Given the description of an element on the screen output the (x, y) to click on. 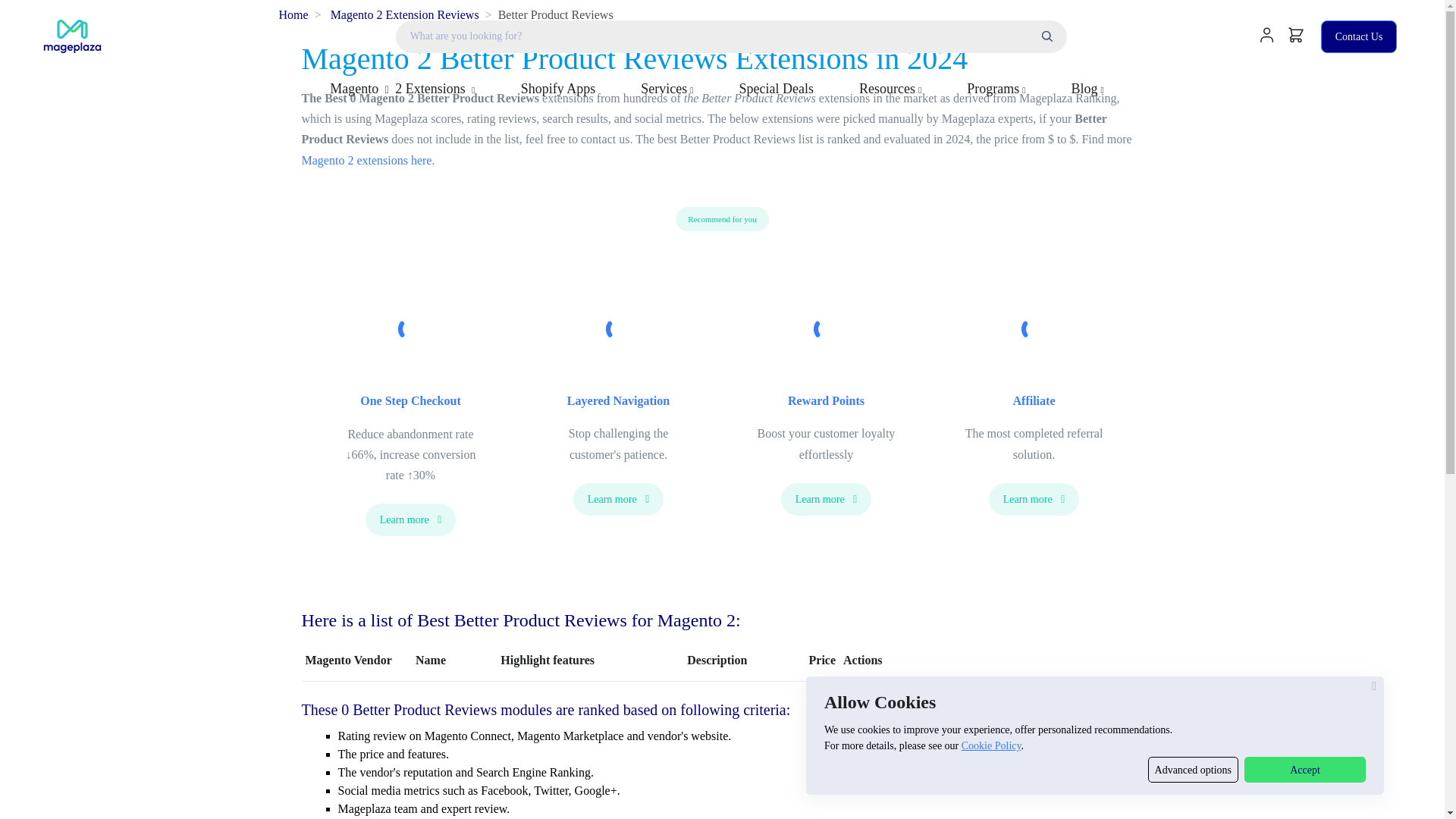
Resources (889, 88)
Advanced options (1193, 769)
Cookie Policy (991, 745)
Programs (995, 88)
Submit the search query. (1046, 36)
Accept (1304, 769)
